Given the description of an element on the screen output the (x, y) to click on. 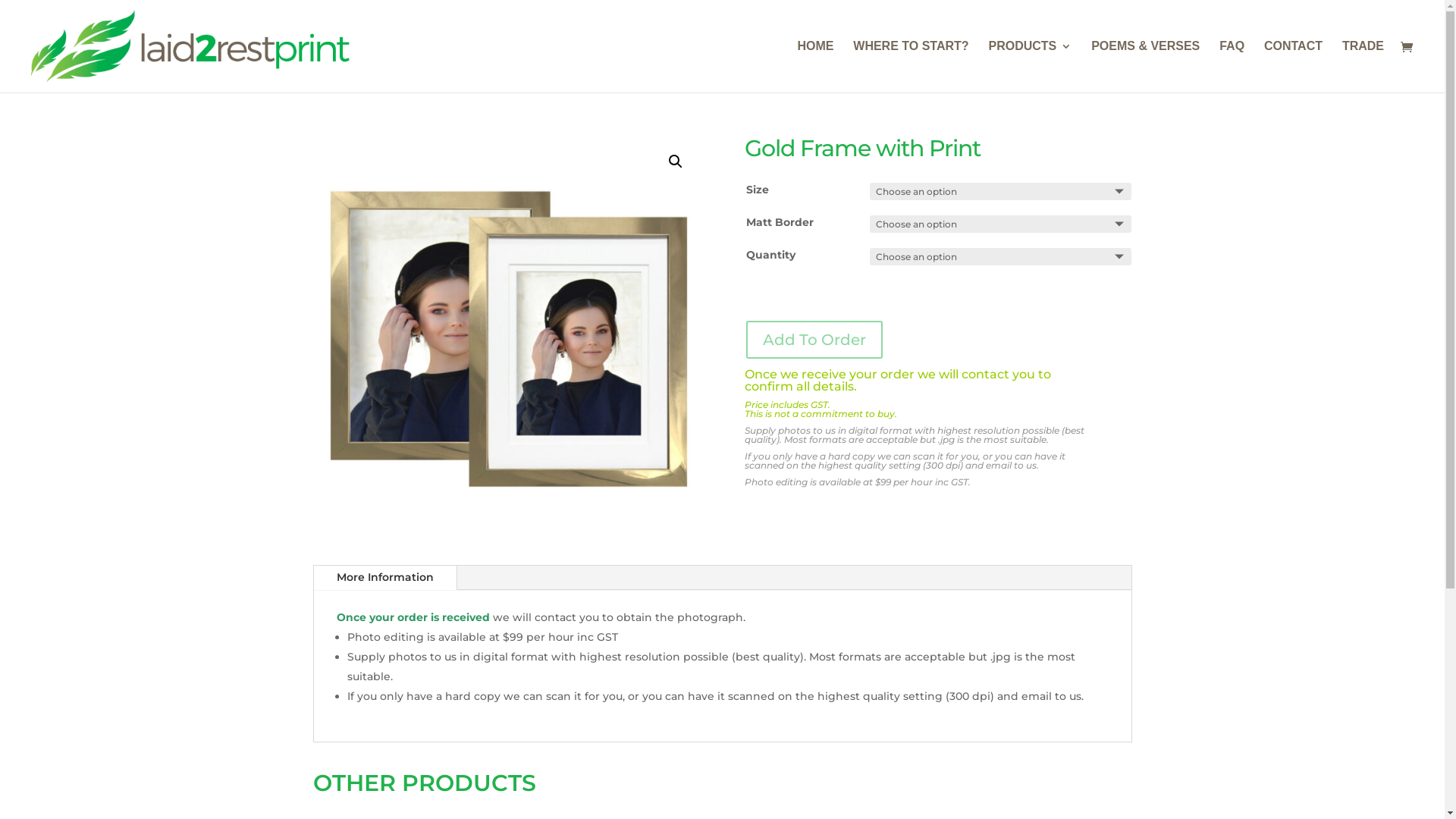
More Information Element type: text (384, 577)
PRODUCTS Element type: text (1029, 66)
Add To Order Element type: text (814, 339)
CONTACT Element type: text (1293, 66)
HOME Element type: text (815, 66)
FRAMES-5 Element type: hover (505, 330)
FAQ Element type: text (1231, 66)
POEMS & VERSES Element type: text (1145, 66)
WHERE TO START? Element type: text (910, 66)
TRADE Element type: text (1362, 66)
